Given the description of an element on the screen output the (x, y) to click on. 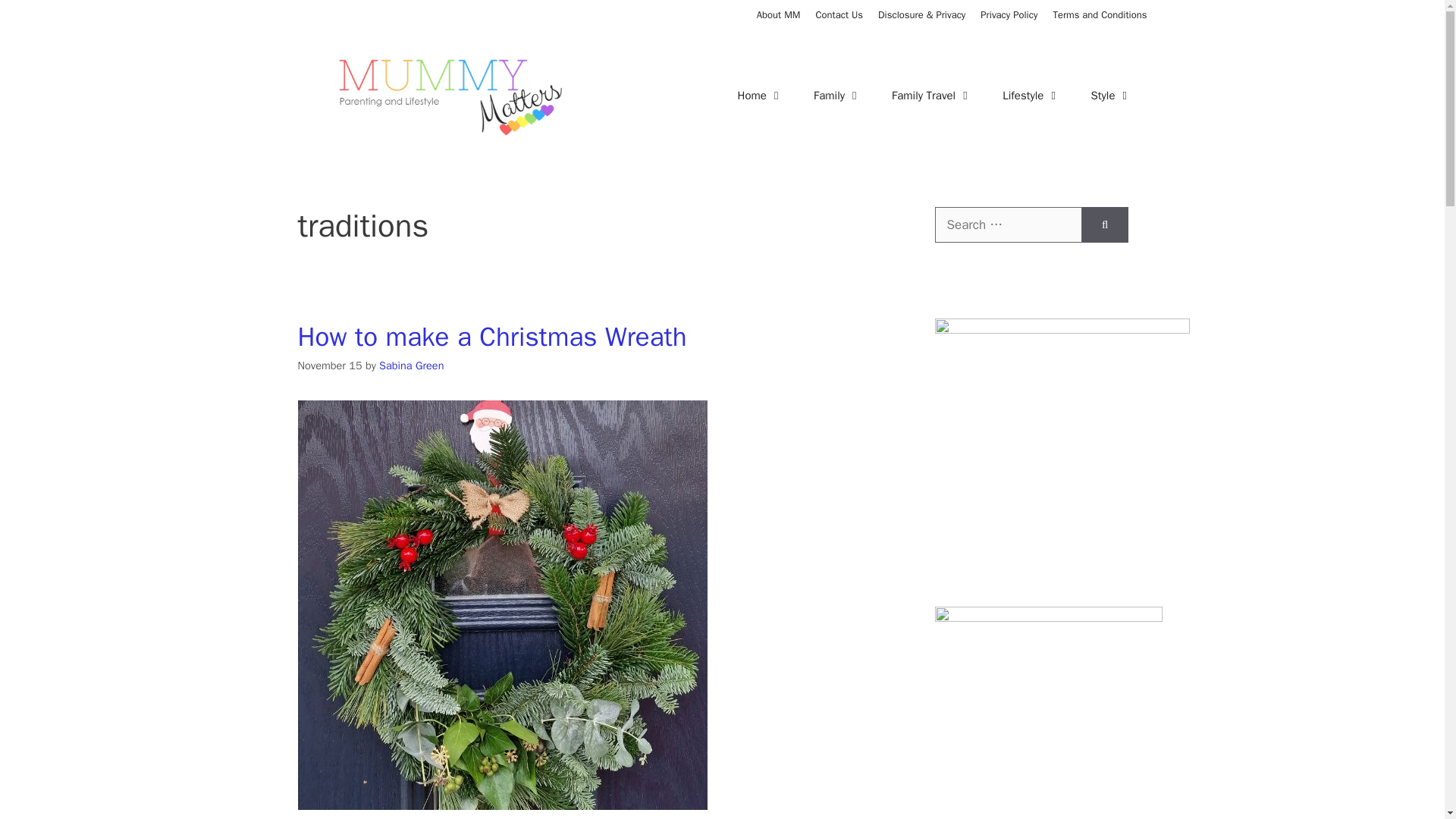
Terms and Conditions (1099, 14)
Who is Mummy Matters? (778, 14)
View all posts by Sabina Green (411, 365)
Privacy Policy (1007, 14)
Search for: (1007, 225)
Work with Mummy Matters (839, 14)
Home (759, 94)
Contact Us (839, 14)
About MM (778, 14)
